Given the description of an element on the screen output the (x, y) to click on. 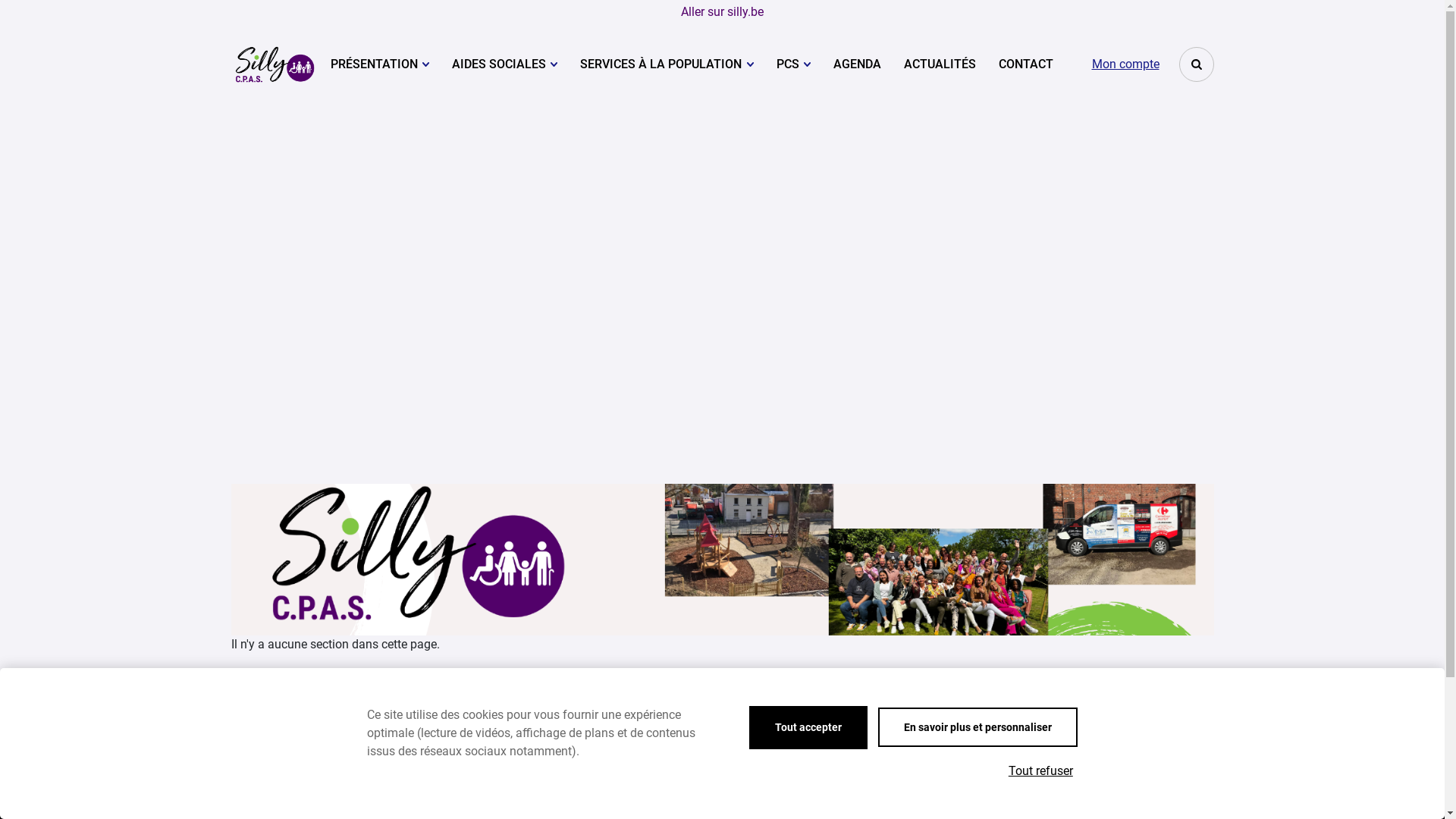
En savoir plus et personnaliser Element type: text (977, 726)
PCS Element type: text (793, 64)
Aller sur silly.be Element type: text (721, 11)
CPAS Element type: hover (273, 64)
CONTACT Element type: text (1025, 64)
Rechercher Element type: text (1195, 64)
Tout accepter Element type: text (808, 727)
Mon compte Element type: text (1125, 63)
AGENDA Element type: text (857, 64)
AIDES SOCIALES Element type: text (504, 64)
Tout refuser Element type: text (1040, 771)
CPAS Element type: hover (273, 64)
